Given the description of an element on the screen output the (x, y) to click on. 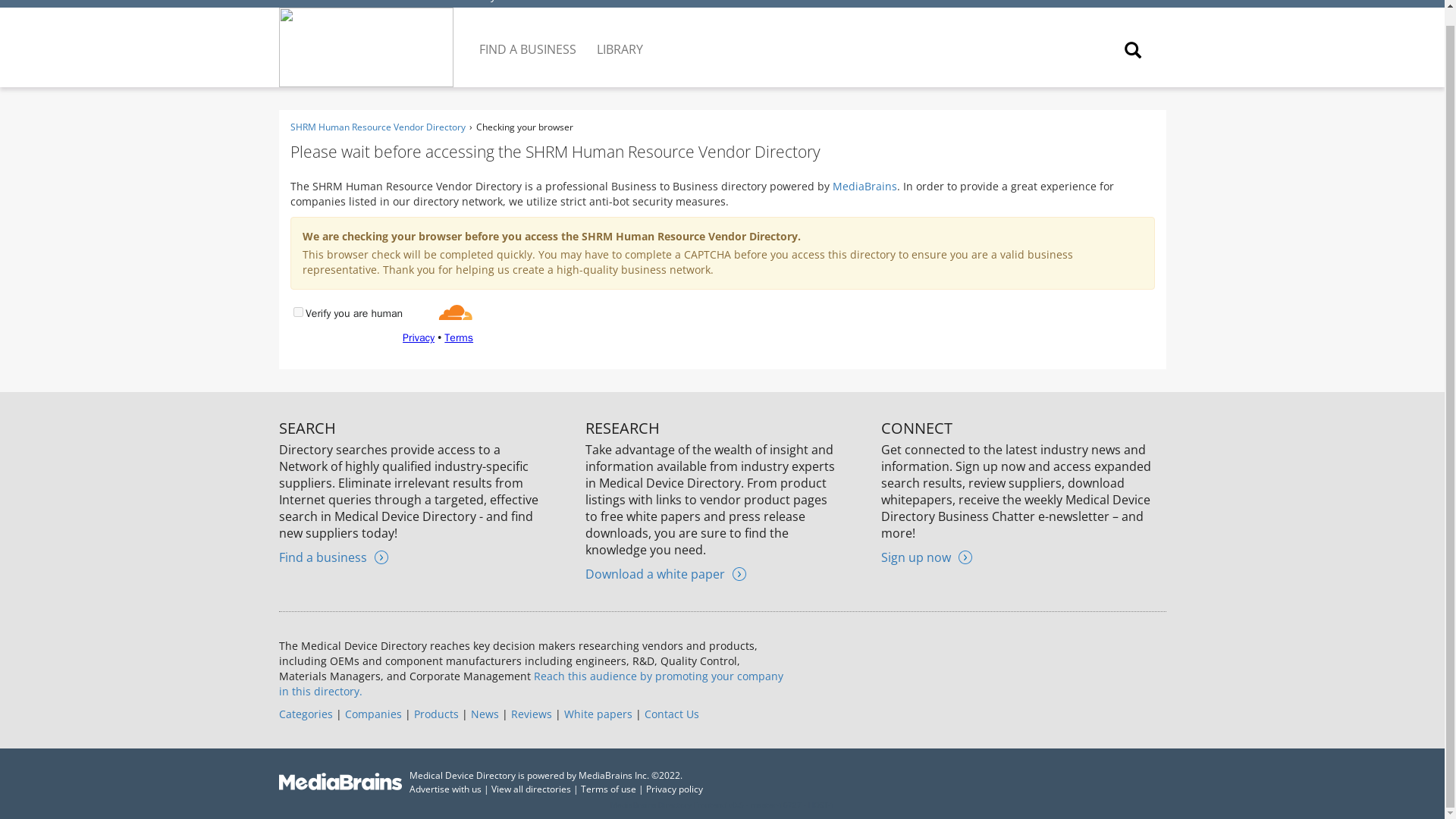
White papers (597, 713)
Find a business (333, 556)
FIND A BUSINESS (528, 37)
LIBRARY (620, 37)
Reviews (531, 713)
News (483, 713)
Products (435, 713)
Privacy policy (674, 788)
MediaBrains (864, 186)
Contact Us (671, 713)
Terms of use (608, 788)
SHRM Human Resource Vendor Directory (391, 1)
Categories (306, 713)
View all directories (531, 788)
